Given the description of an element on the screen output the (x, y) to click on. 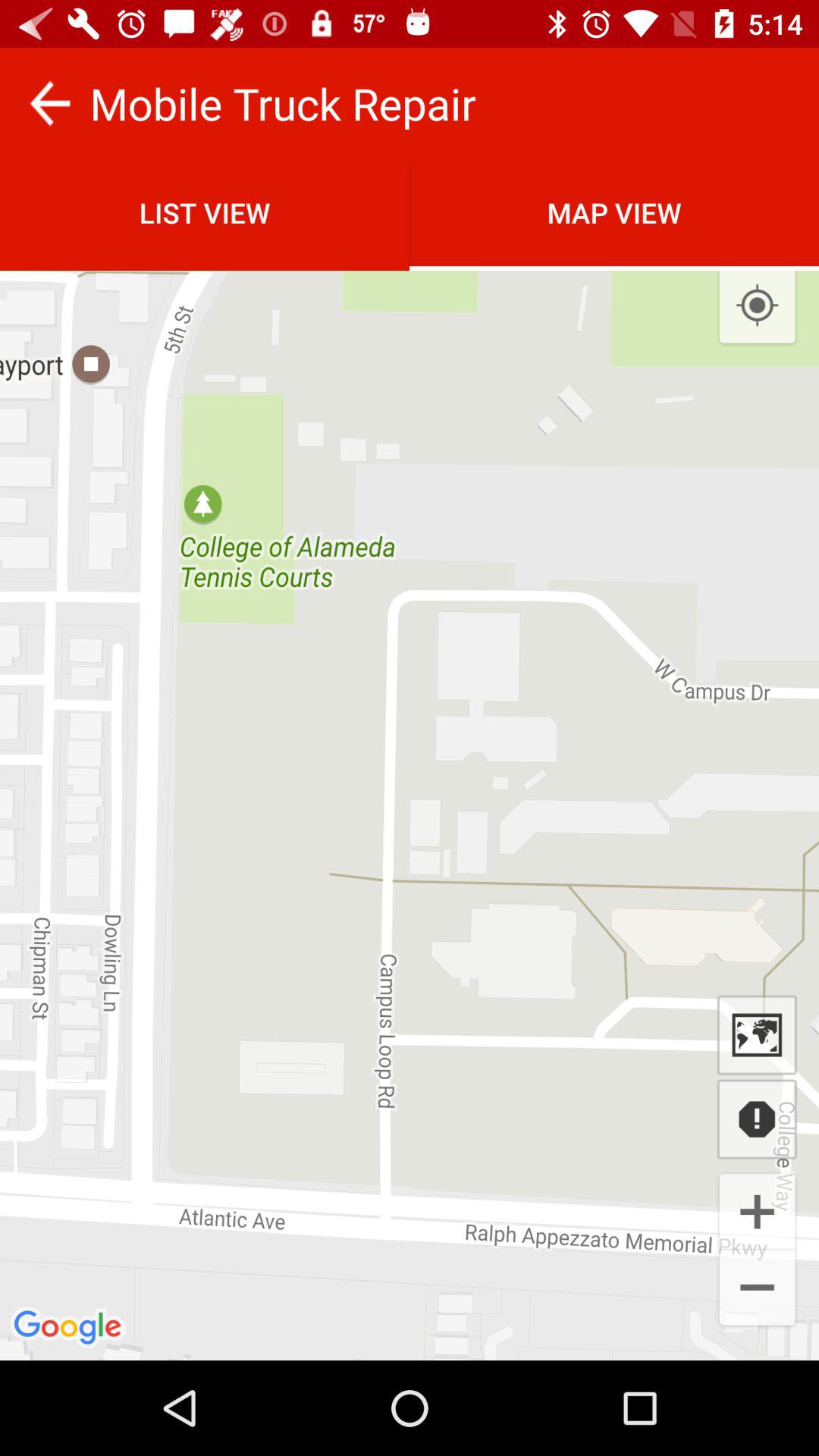
turn on the item next to the map view icon (204, 212)
